Given the description of an element on the screen output the (x, y) to click on. 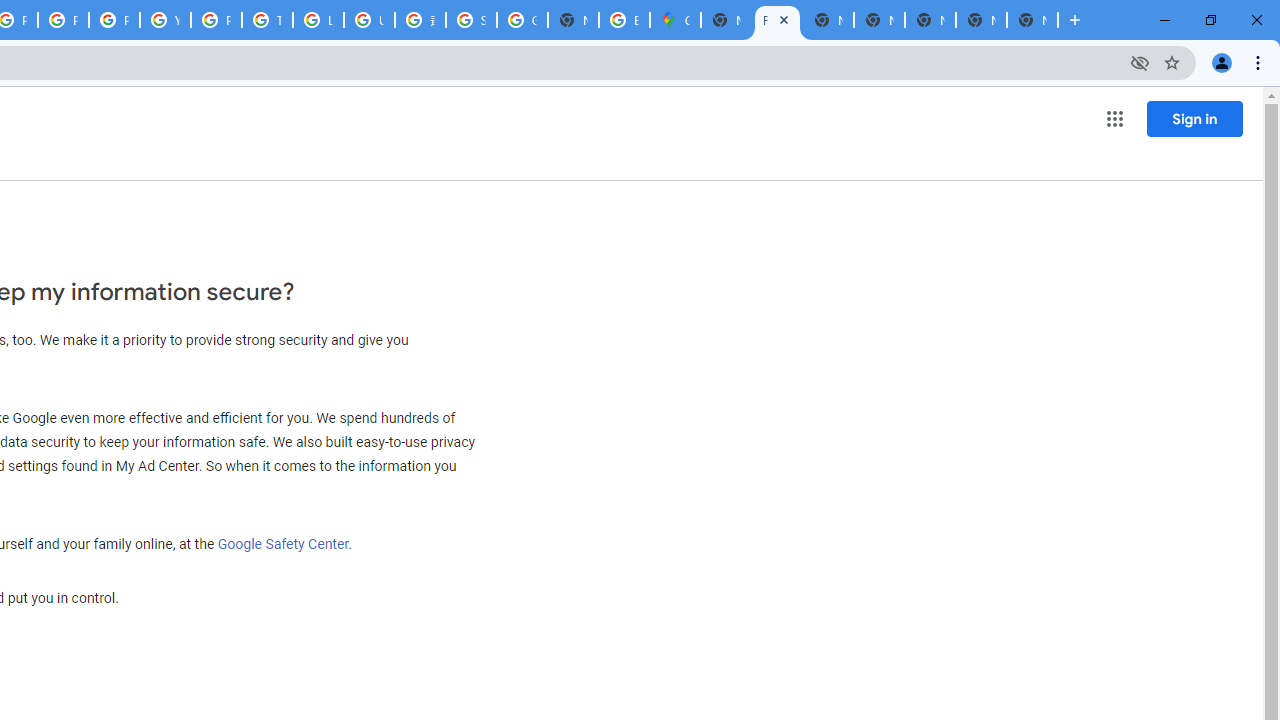
Tips & tricks for Chrome - Google Chrome Help (267, 20)
YouTube (164, 20)
Sign in - Google Accounts (470, 20)
New Tab (726, 20)
